Given the description of an element on the screen output the (x, y) to click on. 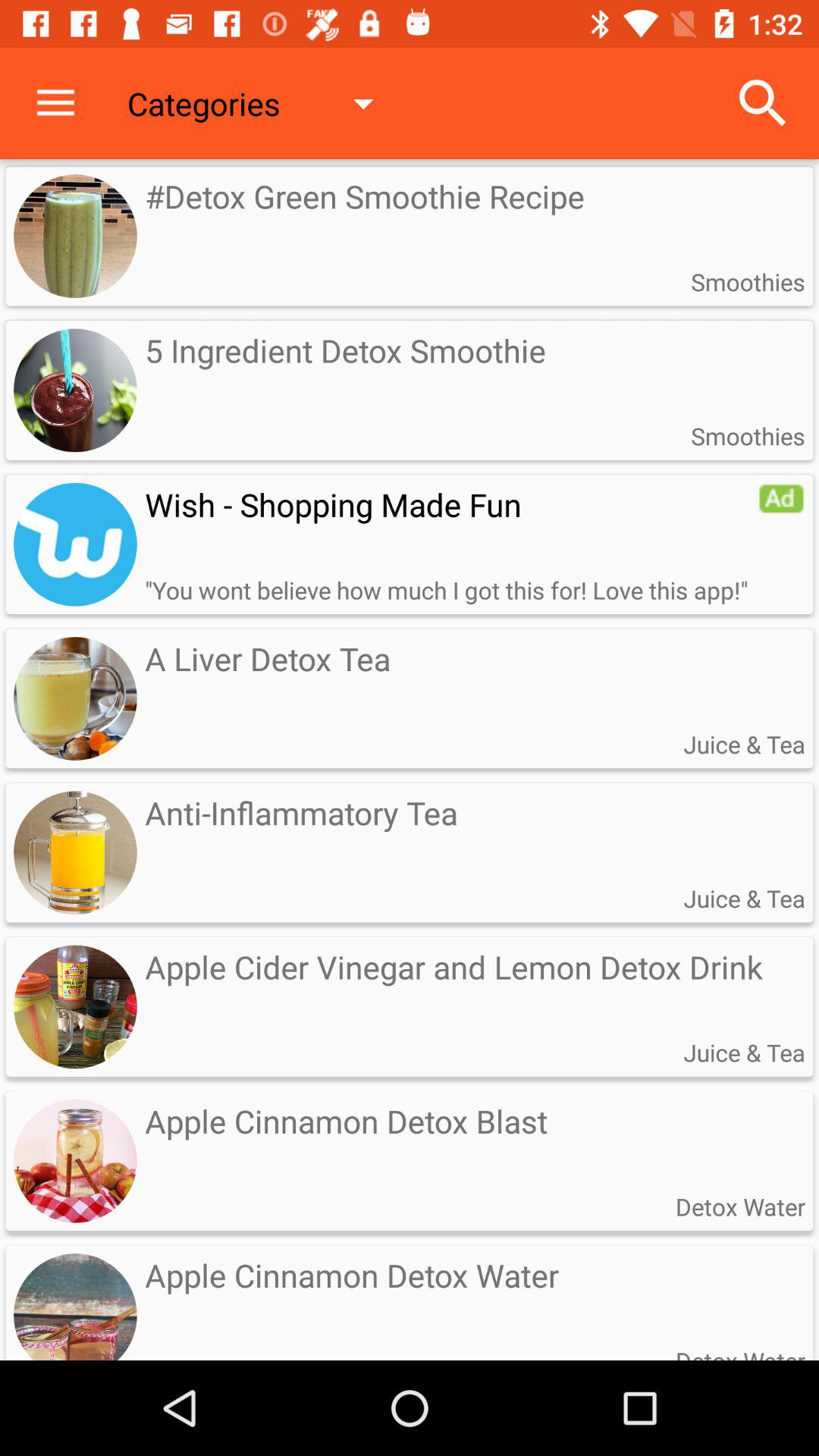
open the icon below wish shopping made icon (446, 589)
